Given the description of an element on the screen output the (x, y) to click on. 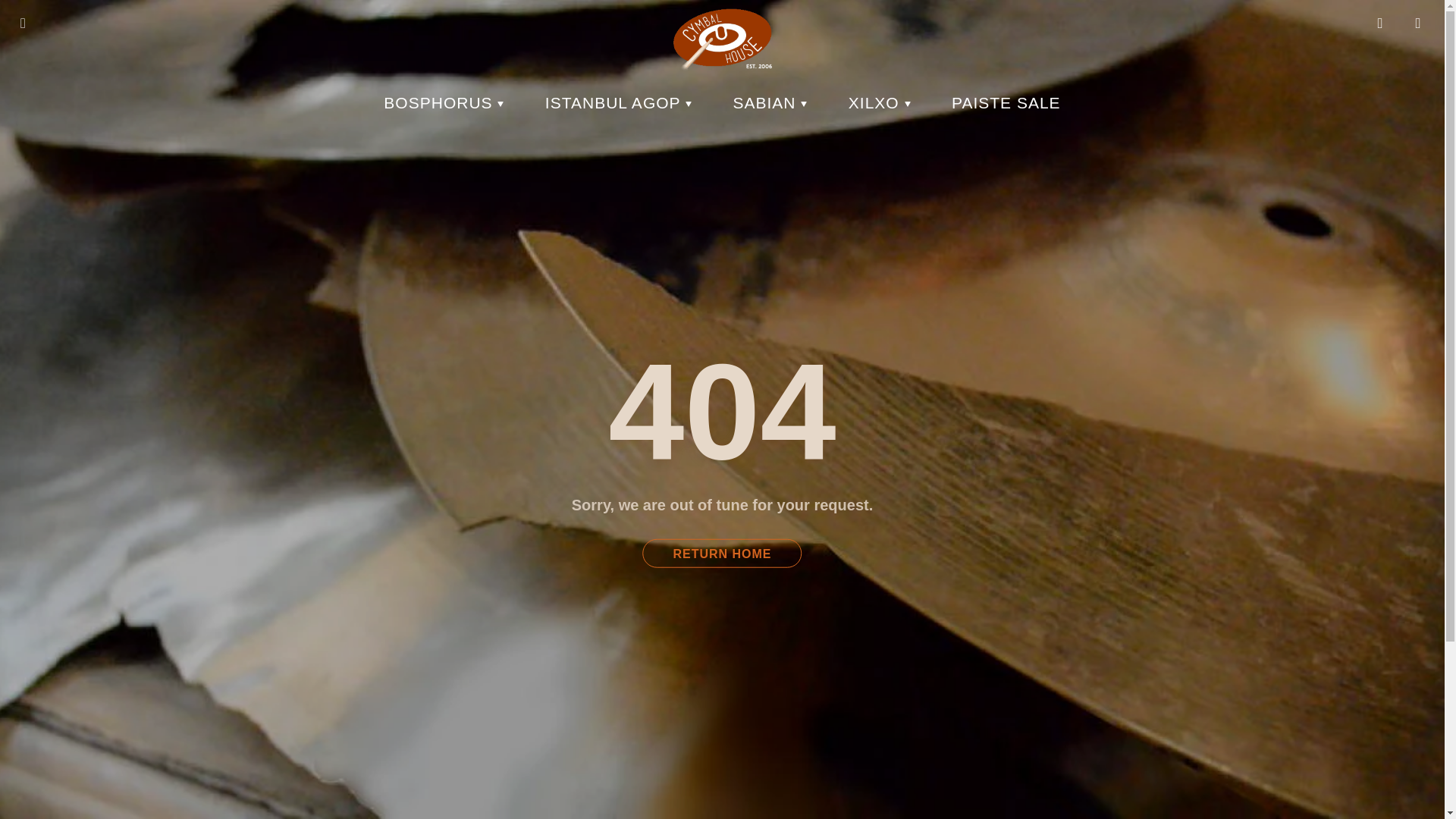
ISTANBUL AGOP (617, 102)
My account (1379, 23)
You have 0 items in your cart (1417, 23)
BOSPHORUS (443, 102)
Search (28, 23)
